Given the description of an element on the screen output the (x, y) to click on. 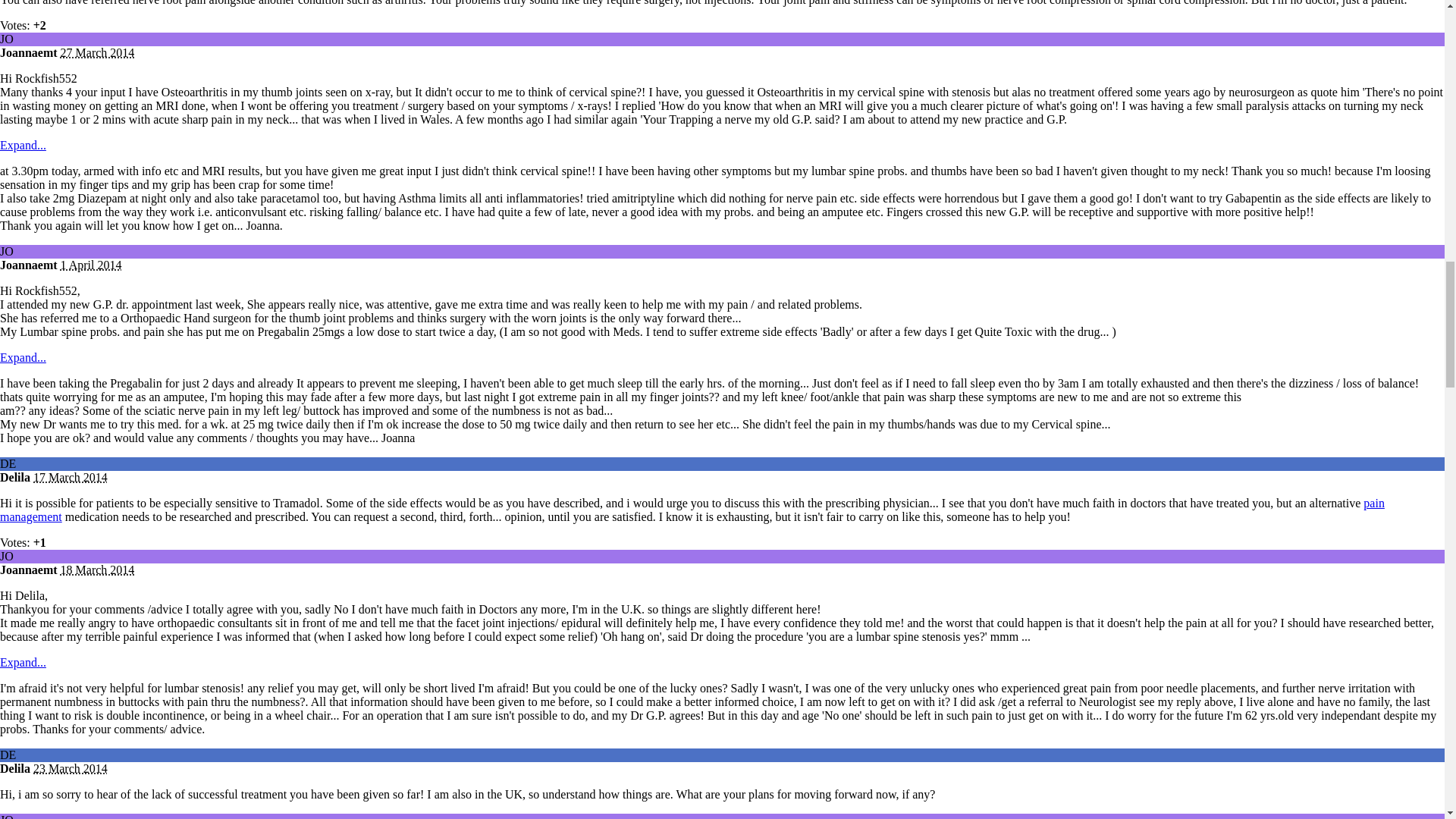
17 March 2014 2:07pm (70, 477)
23 March 2014 12:03pm (70, 768)
1 April 2014 6:00am (91, 264)
18 March 2014 7:02am (98, 569)
27 March 2014 8:01am (98, 51)
